Given the description of an element on the screen output the (x, y) to click on. 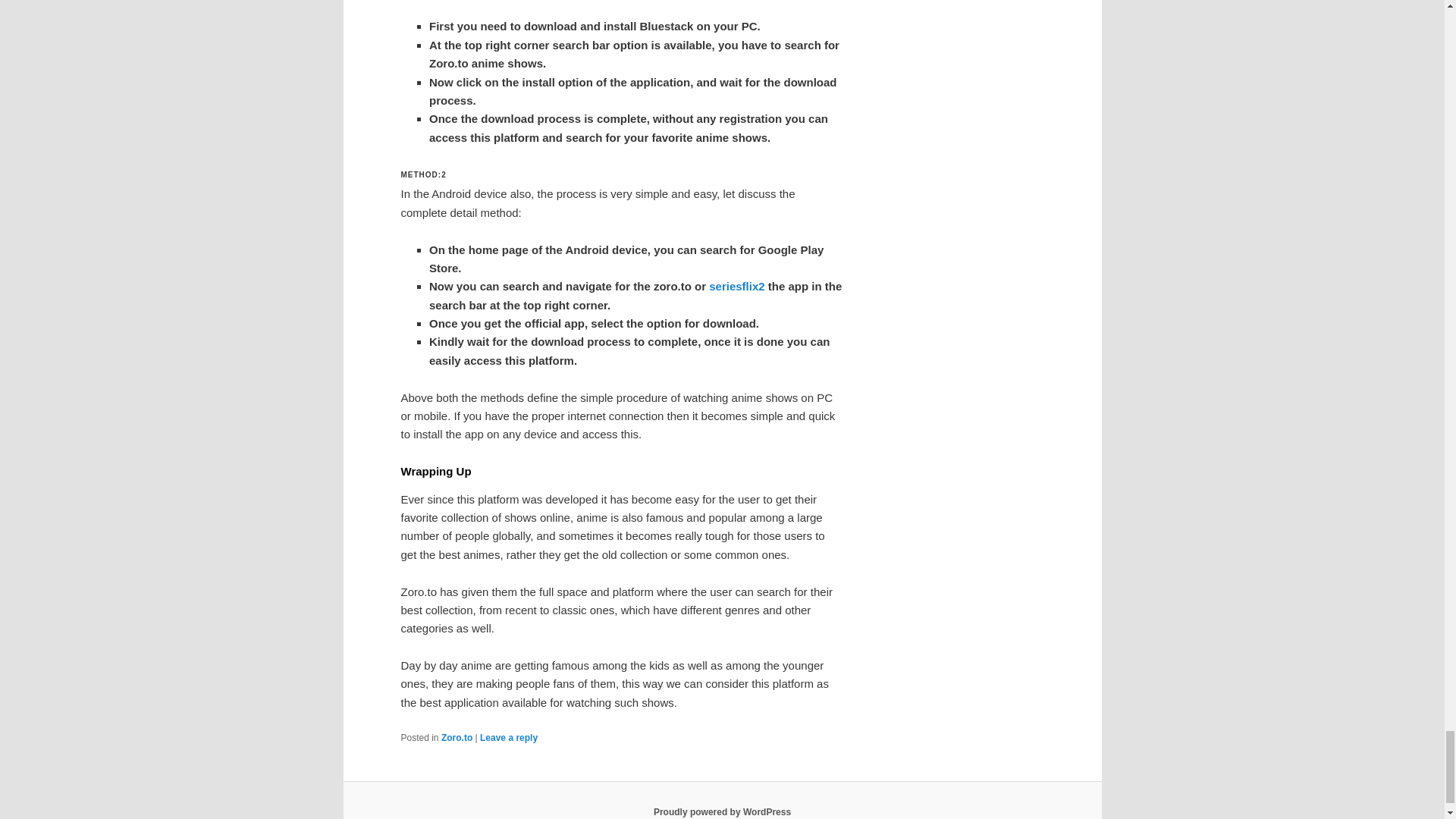
Zoro.to (456, 737)
Proudly powered by WordPress (721, 811)
seriesflix2 (736, 286)
Leave a reply (508, 737)
Semantic Personal Publishing Platform (721, 811)
